Given the description of an element on the screen output the (x, y) to click on. 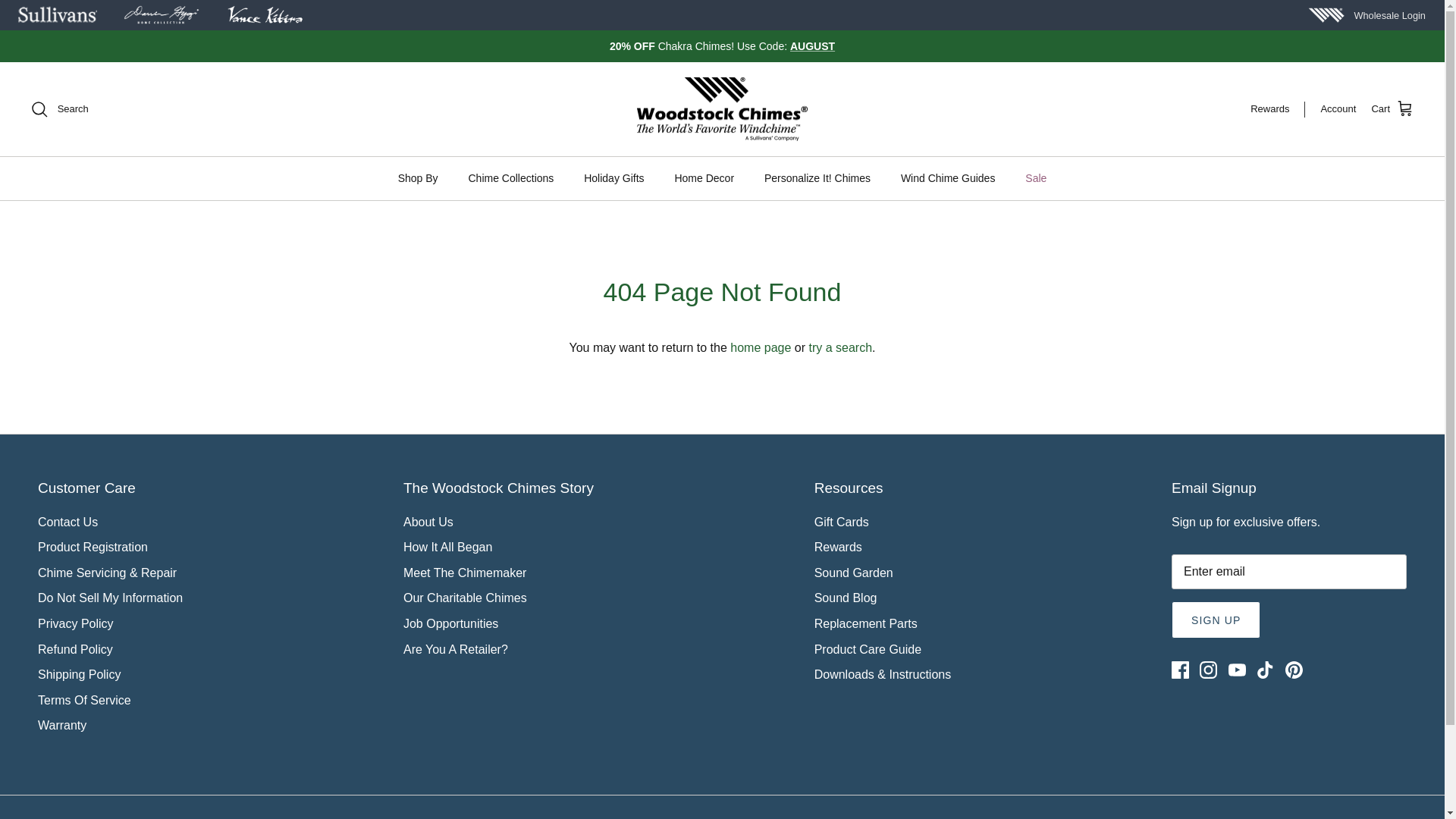
Wholesale Login (1389, 15)
Cart (1392, 108)
Account (1337, 109)
Shop By (417, 178)
Youtube (1237, 669)
Pinterest (1294, 669)
Rewards (1277, 109)
Instagram (1208, 669)
Woodstock Chimes (722, 108)
AUGUST (812, 46)
